Given the description of an element on the screen output the (x, y) to click on. 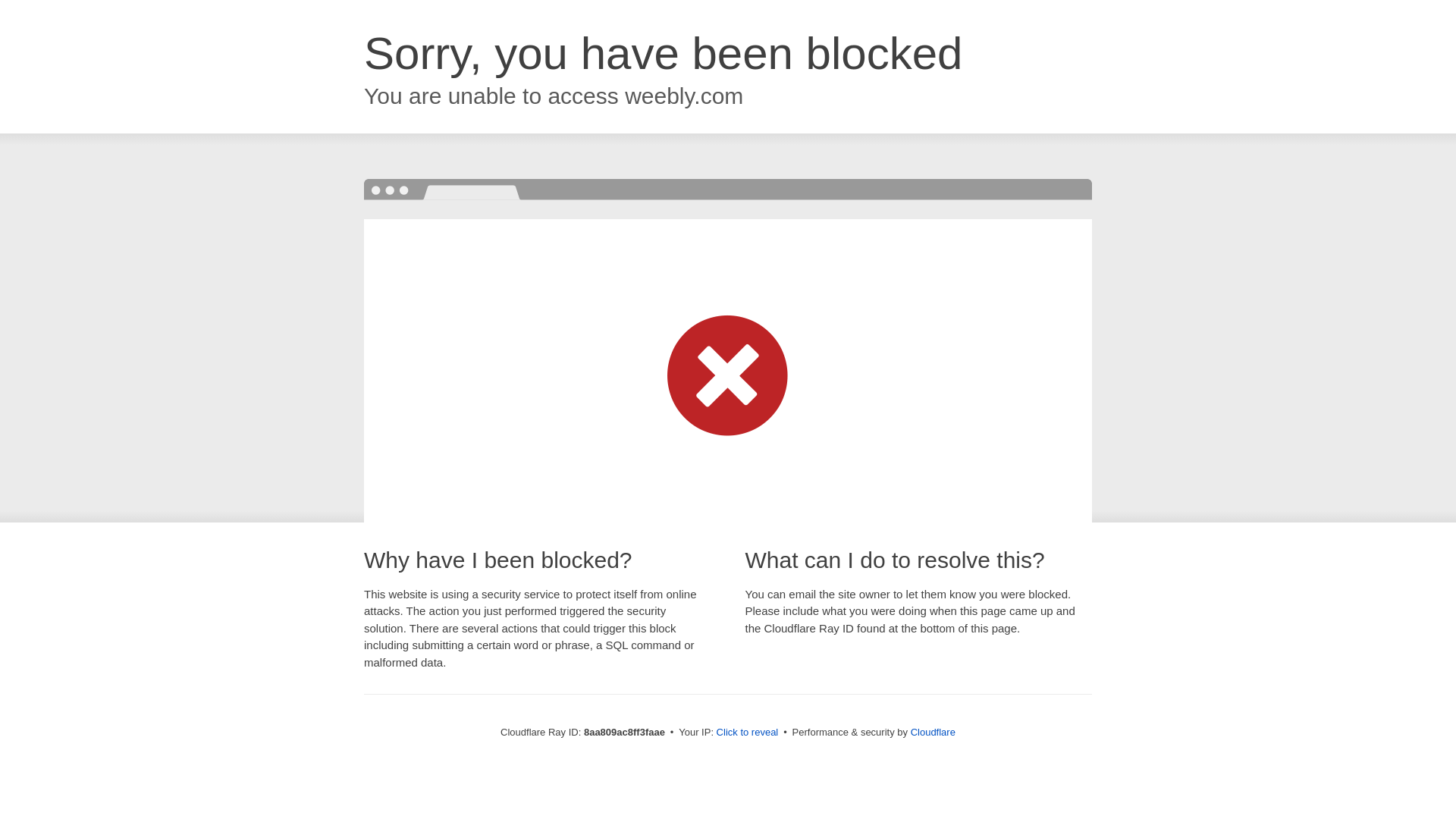
Cloudflare (933, 731)
Click to reveal (747, 732)
